Given the description of an element on the screen output the (x, y) to click on. 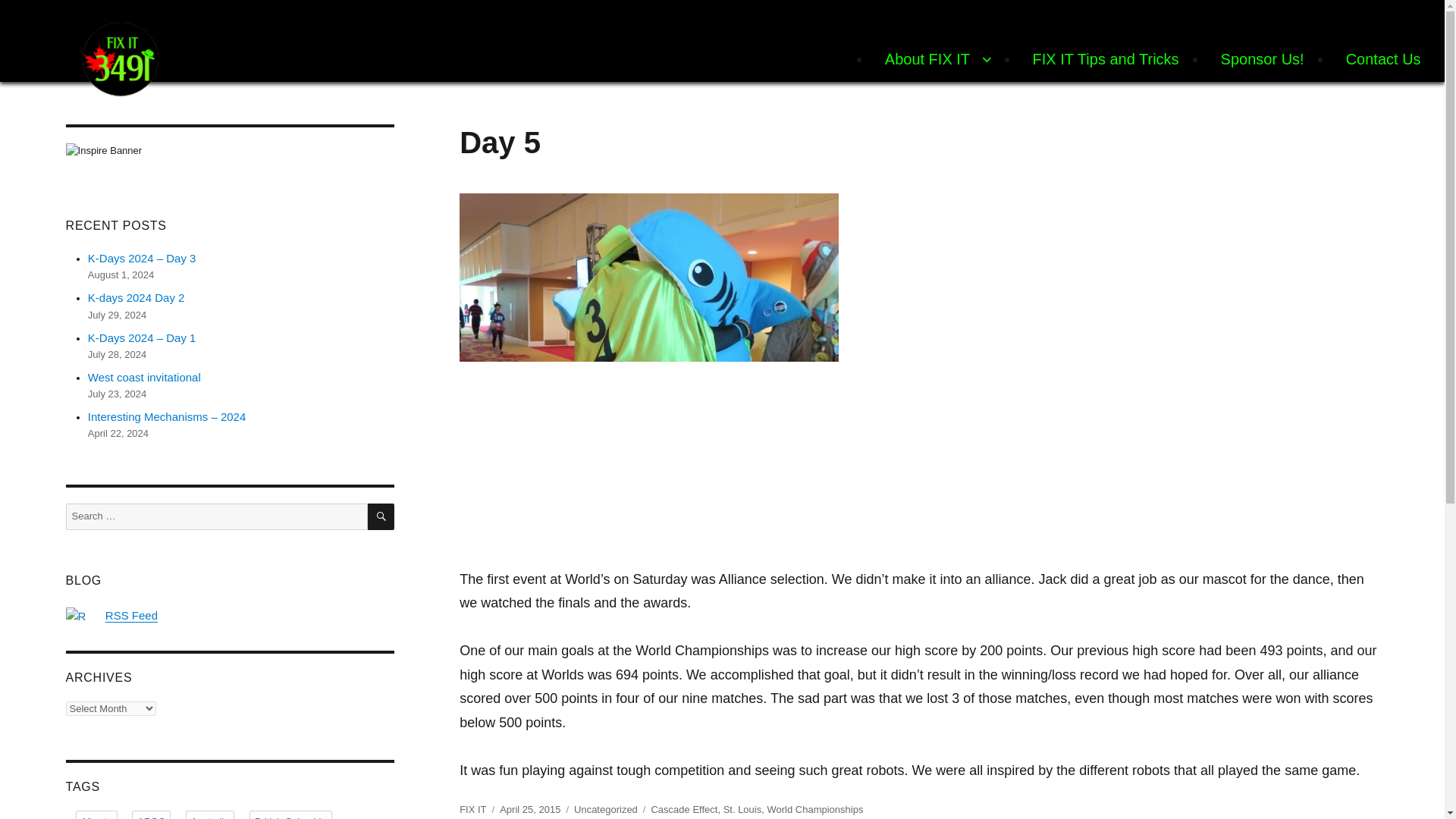
SEARCH (381, 516)
Contact Us (1383, 59)
World Championships (815, 808)
FIX IT (473, 808)
Cascade Effect (683, 808)
FIX IT 3491 (137, 120)
Sponsor Us! (1262, 59)
RSS Feed (130, 615)
K-days 2024 Day 2 (135, 297)
April 25, 2015 (529, 808)
